Given the description of an element on the screen output the (x, y) to click on. 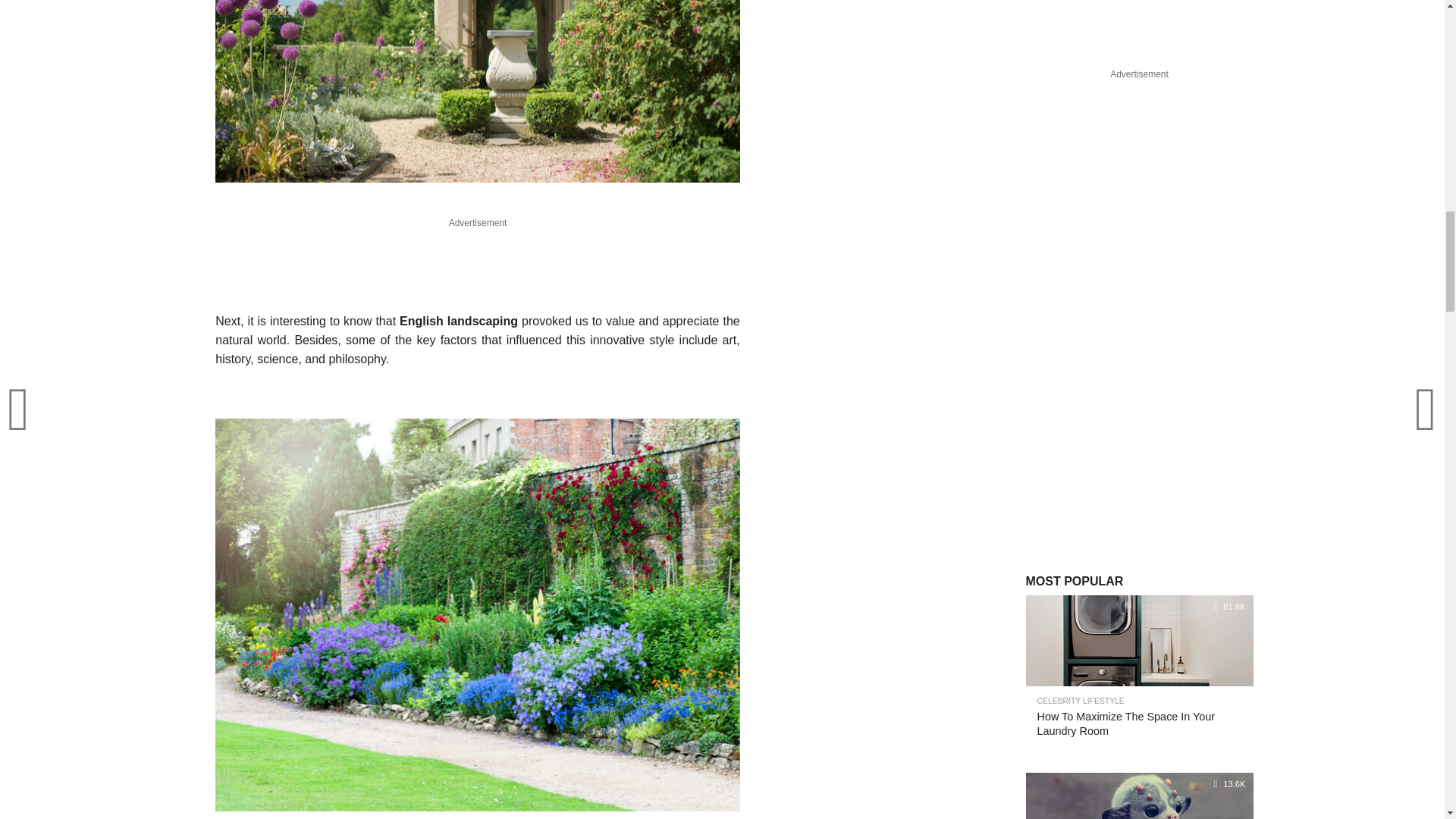
Aristocratic garden (477, 90)
